Given the description of an element on the screen output the (x, y) to click on. 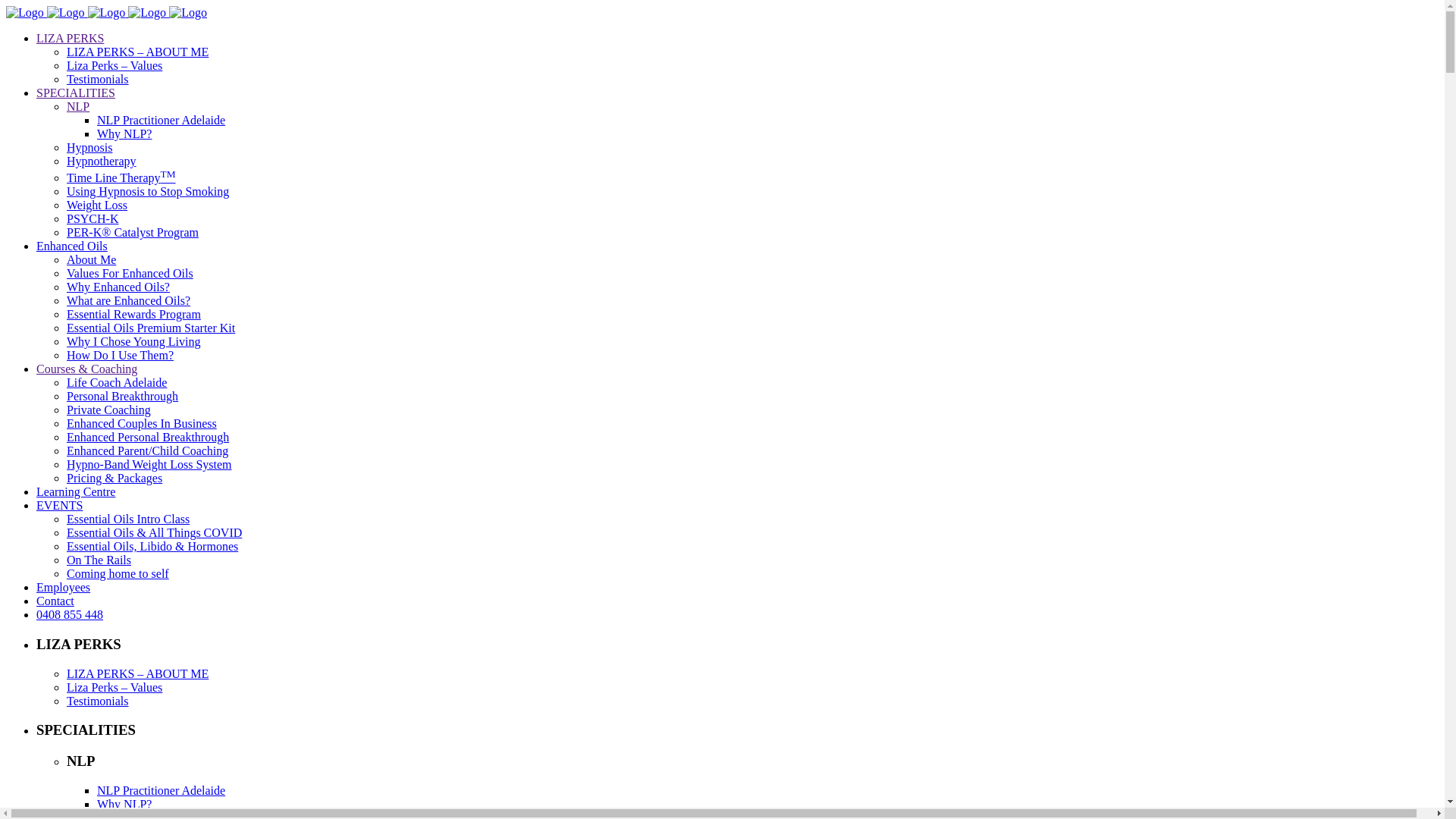
Why NLP? Element type: text (124, 803)
Essential Oils Intro Class Element type: text (127, 518)
Testimonials Element type: text (97, 700)
Contact Element type: text (55, 600)
Enhanced Parent/Child Coaching Element type: text (147, 450)
Essential Oils Premium Starter Kit Element type: text (150, 327)
Essential Oils & All Things COVID Element type: text (153, 532)
Time Line TherapyTM Element type: text (120, 177)
NLP Practitioner Adelaide Element type: text (161, 119)
Values For Enhanced Oils Element type: text (129, 272)
Enhanced Personal Breakthrough Element type: text (147, 436)
About Me Element type: text (91, 259)
NLP Element type: text (77, 106)
What are Enhanced Oils? Element type: text (128, 300)
Pricing & Packages Element type: text (114, 477)
Courses & Coaching Element type: text (86, 368)
PSYCH-K Element type: text (92, 218)
Why NLP? Element type: text (124, 133)
Enhanced Oils Element type: text (71, 245)
SPECIALITIES Element type: text (75, 92)
LIZA PERKS Element type: text (69, 37)
On The Rails Element type: text (98, 559)
Why I Chose Young Living Element type: text (133, 341)
Using Hypnosis to Stop Smoking Element type: text (147, 191)
Learning Centre Element type: text (75, 491)
How Do I Use Them? Element type: text (119, 354)
Hypnosis Element type: text (89, 147)
Essential Rewards Program Element type: text (133, 313)
Personal Breakthrough Element type: text (122, 395)
Life Coach Adelaide Element type: text (116, 382)
Hypnotherapy Element type: text (101, 160)
Employees Element type: text (63, 586)
Essential Oils, Libido & Hormones Element type: text (152, 545)
Hypno-Band Weight Loss System Element type: text (149, 464)
Coming home to self Element type: text (117, 573)
Enhanced Couples In Business Element type: text (141, 423)
Private Coaching Element type: text (108, 409)
Why Enhanced Oils? Element type: text (117, 286)
0408 855 448 Element type: text (69, 614)
EVENTS Element type: text (59, 504)
Weight Loss Element type: text (96, 204)
NLP Practitioner Adelaide Element type: text (161, 790)
Testimonials Element type: text (97, 78)
